Given the description of an element on the screen output the (x, y) to click on. 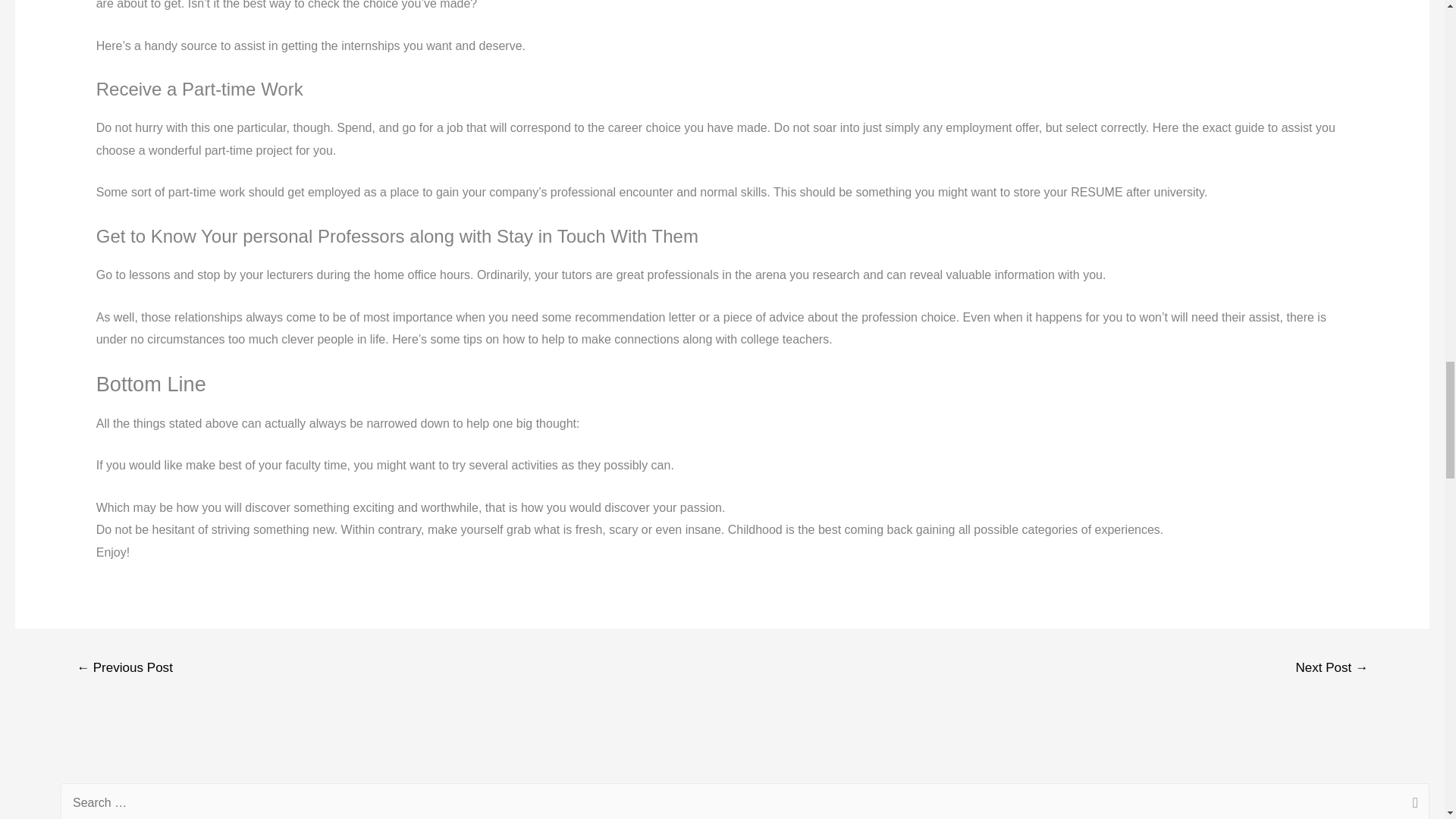
Search (1411, 800)
Search (1411, 800)
Search (1411, 800)
